Given the description of an element on the screen output the (x, y) to click on. 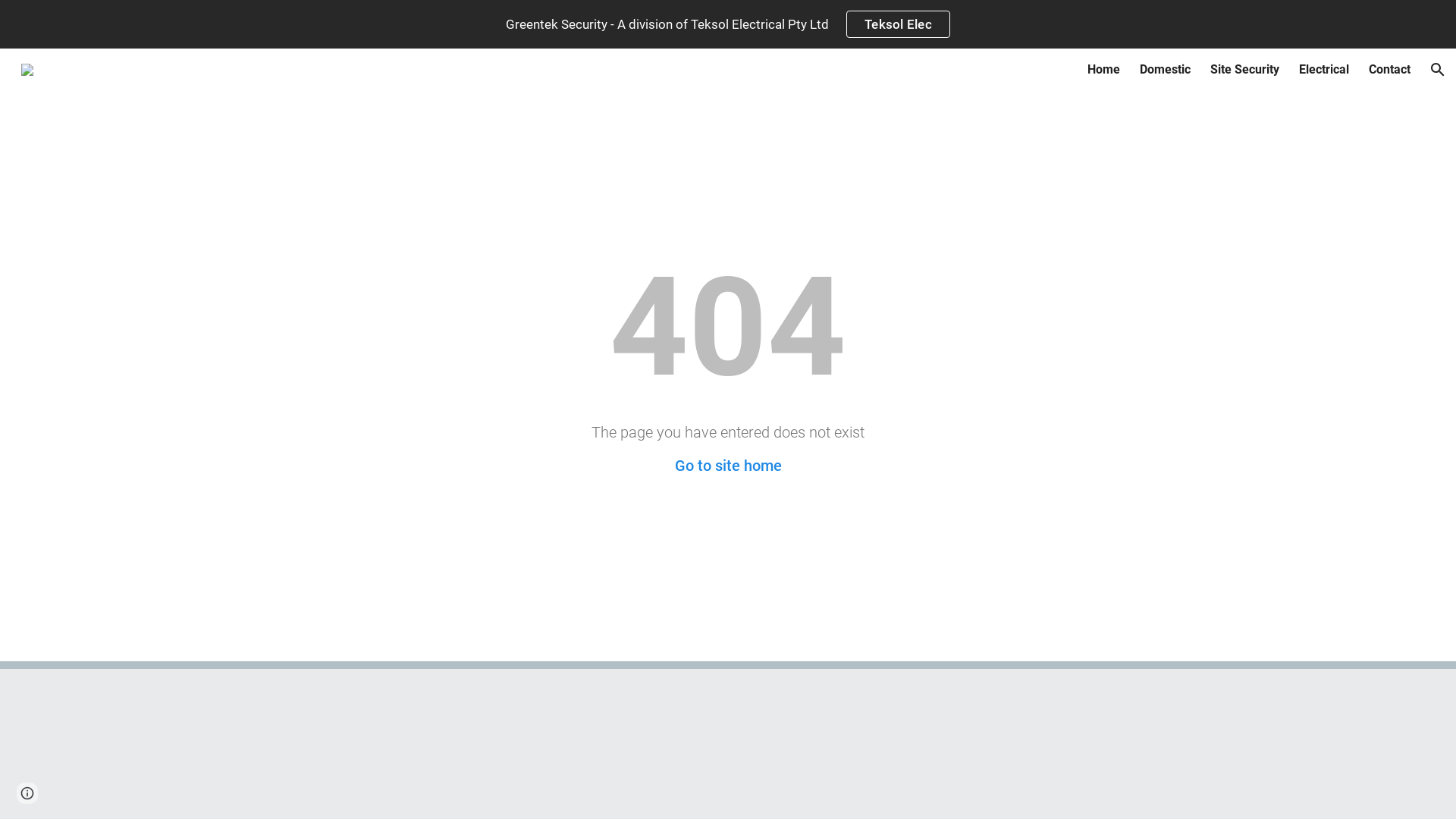
Contact Element type: text (1389, 69)
Domestic Element type: text (1164, 69)
Electrical Element type: text (1324, 69)
Go to site home Element type: text (727, 465)
Teksol Elec Element type: text (898, 24)
Site Security Element type: text (1244, 69)
Home Element type: text (1103, 69)
